Given the description of an element on the screen output the (x, y) to click on. 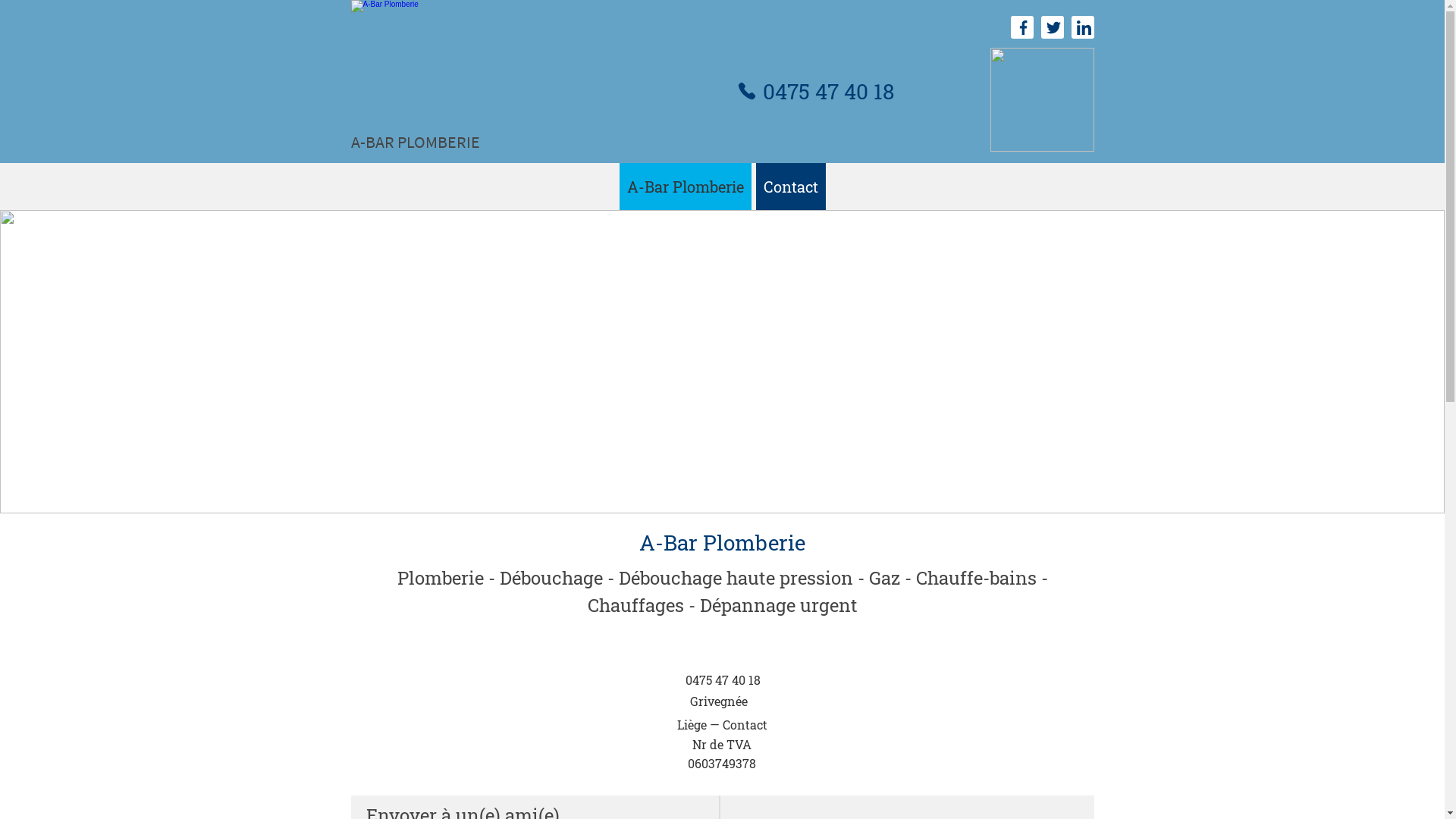
0475 47 40 18 Element type: text (814, 90)
Contact Element type: text (790, 186)
0475 47 40 18 Element type: text (721, 679)
A-Bar Plomberie Element type: text (684, 186)
A-BAR PLOMBERIE Element type: text (414, 141)
